Given the description of an element on the screen output the (x, y) to click on. 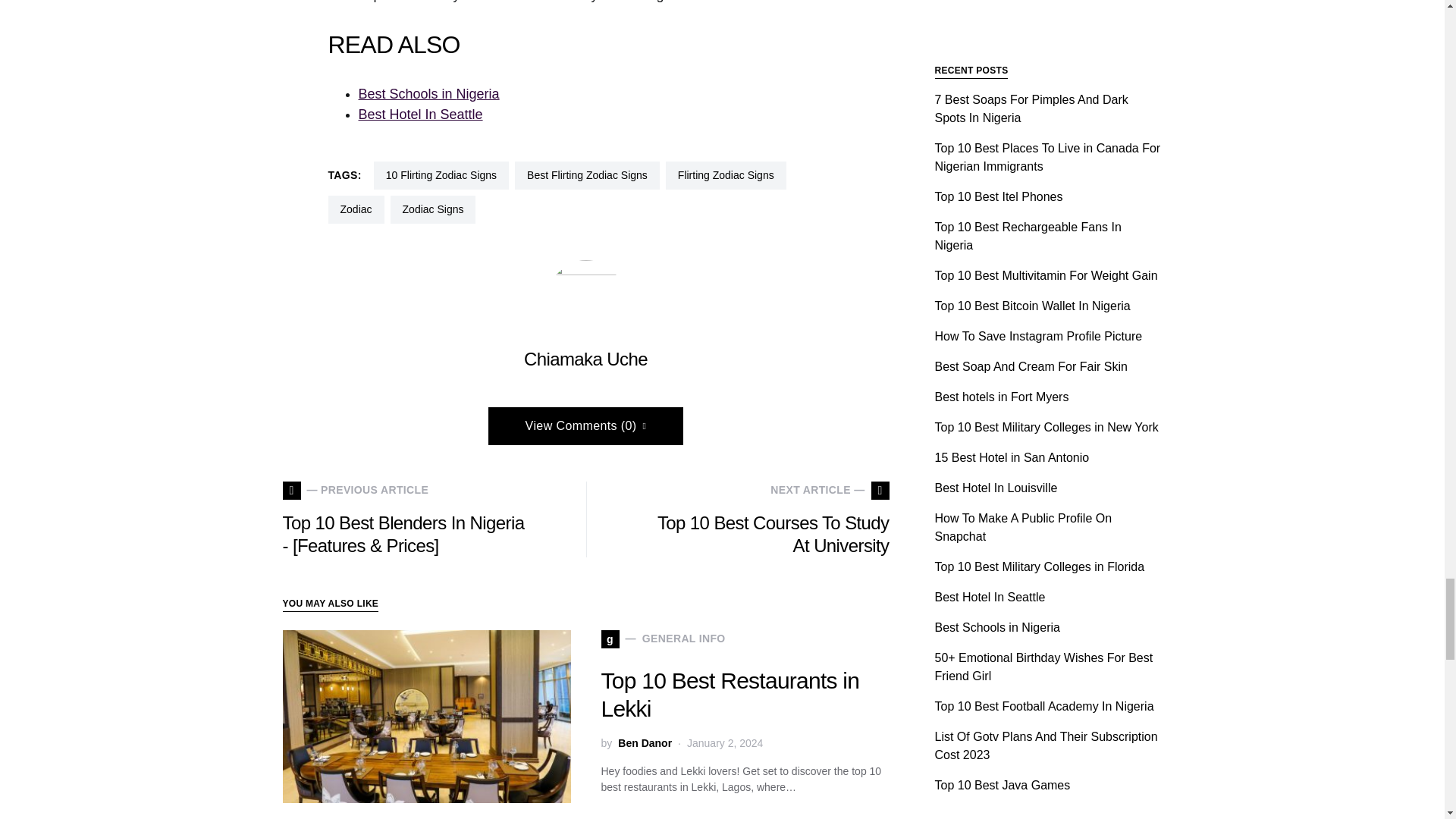
View all posts by Ben Danor (644, 743)
Top 10 Best Restaurants in Lekki 2 (426, 716)
